Given the description of an element on the screen output the (x, y) to click on. 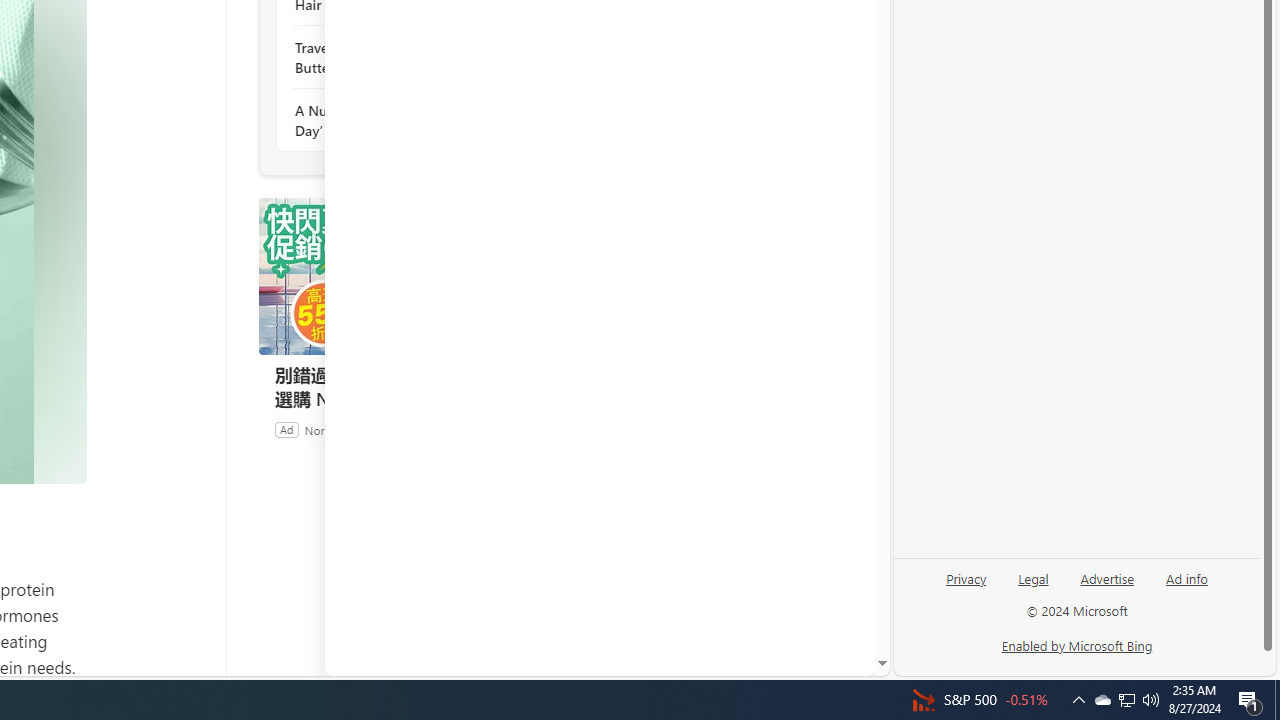
Legal (1033, 577)
Ad info (1186, 586)
